Given the description of an element on the screen output the (x, y) to click on. 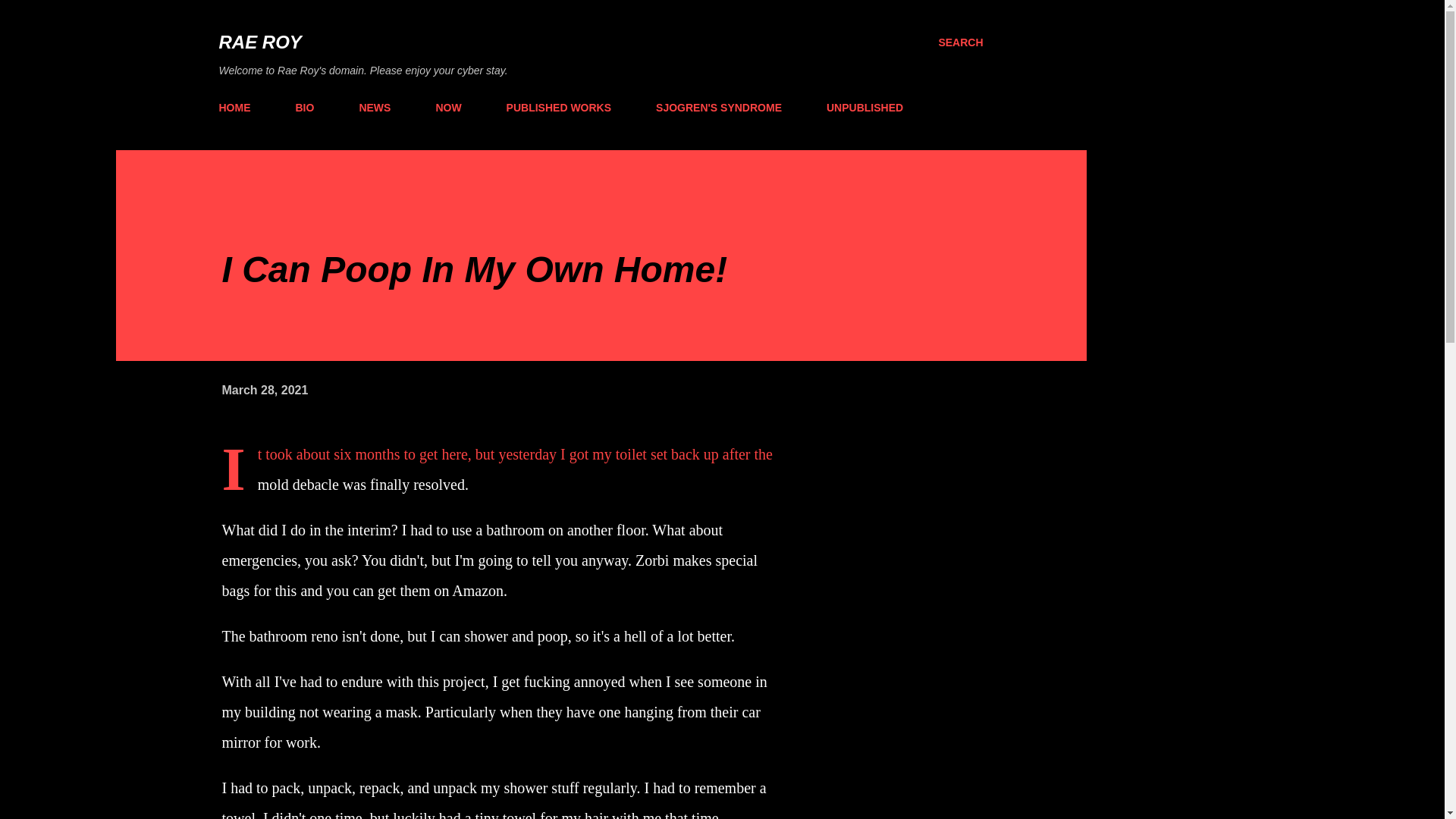
BIO (304, 107)
HOME (238, 107)
NOW (448, 107)
SJOGREN'S SYNDROME (718, 107)
UNPUBLISHED (864, 107)
March 28, 2021 (264, 390)
permanent link (264, 390)
SEARCH (959, 42)
NEWS (373, 107)
RAE ROY (259, 41)
PUBLISHED WORKS (558, 107)
